Given the description of an element on the screen output the (x, y) to click on. 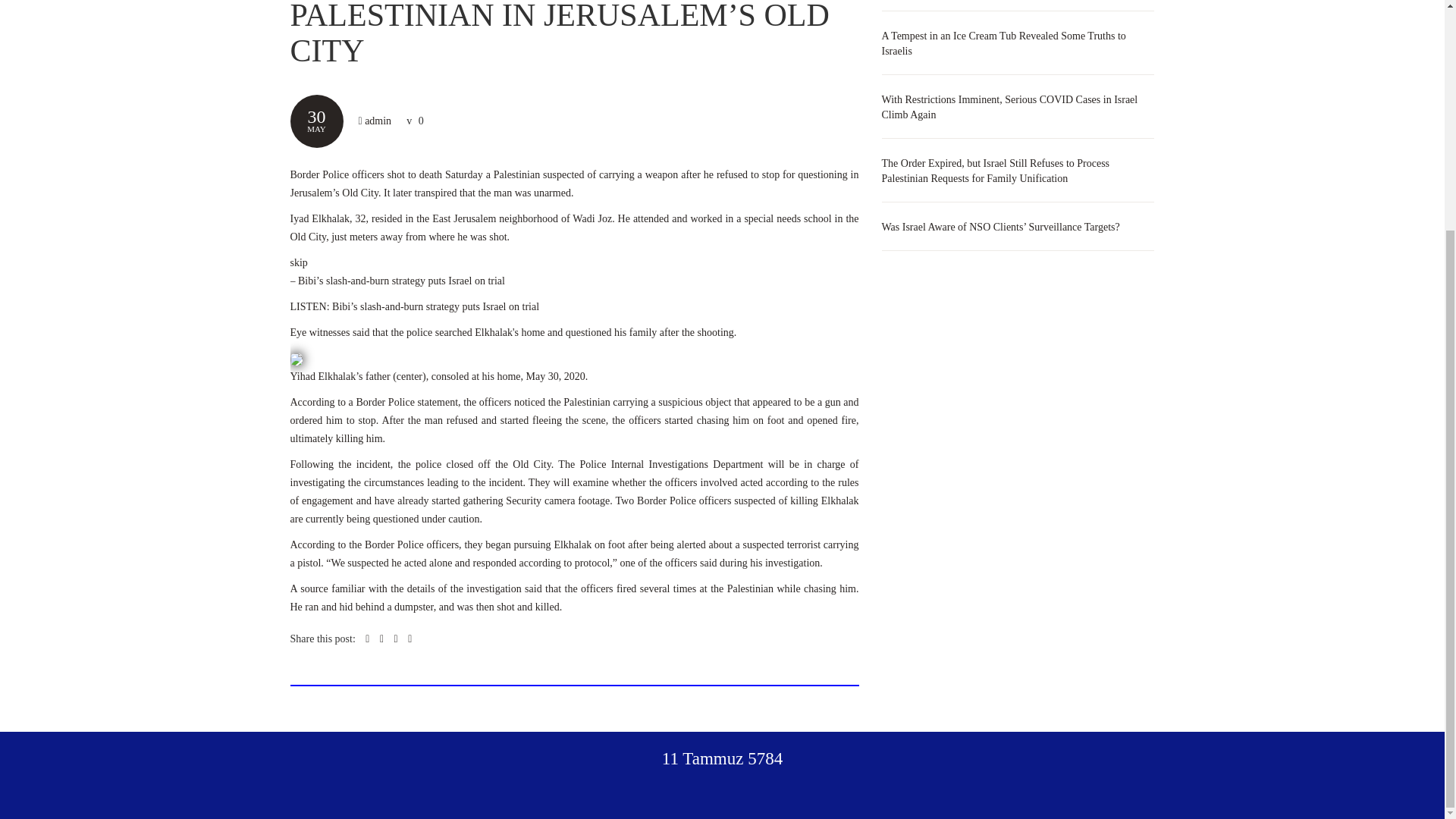
admin (378, 120)
